Given the description of an element on the screen output the (x, y) to click on. 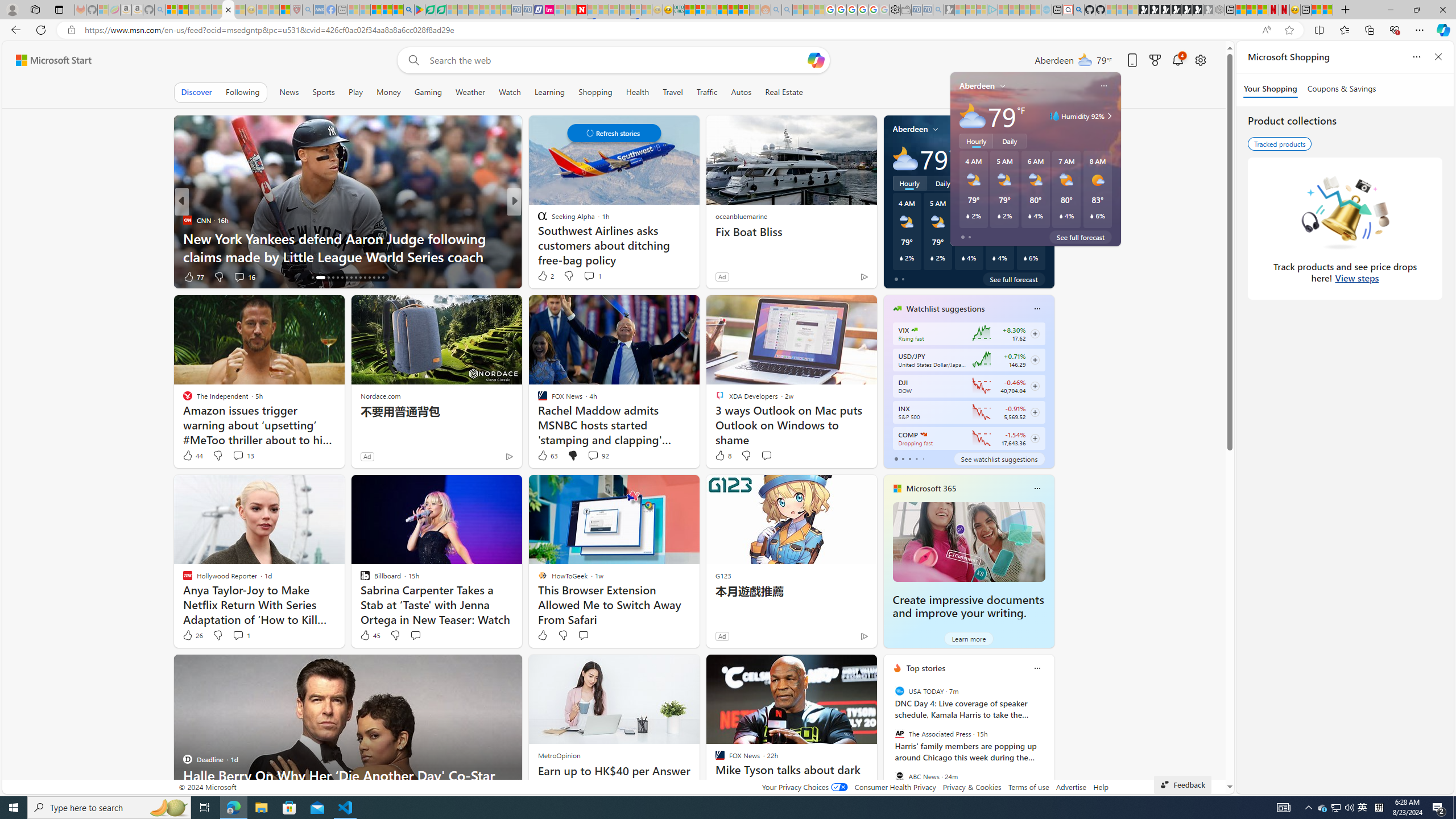
View comments 31 Comment (592, 276)
This story is trending (842, 279)
45 Like (368, 634)
71 Like (543, 276)
